Given the description of an element on the screen output the (x, y) to click on. 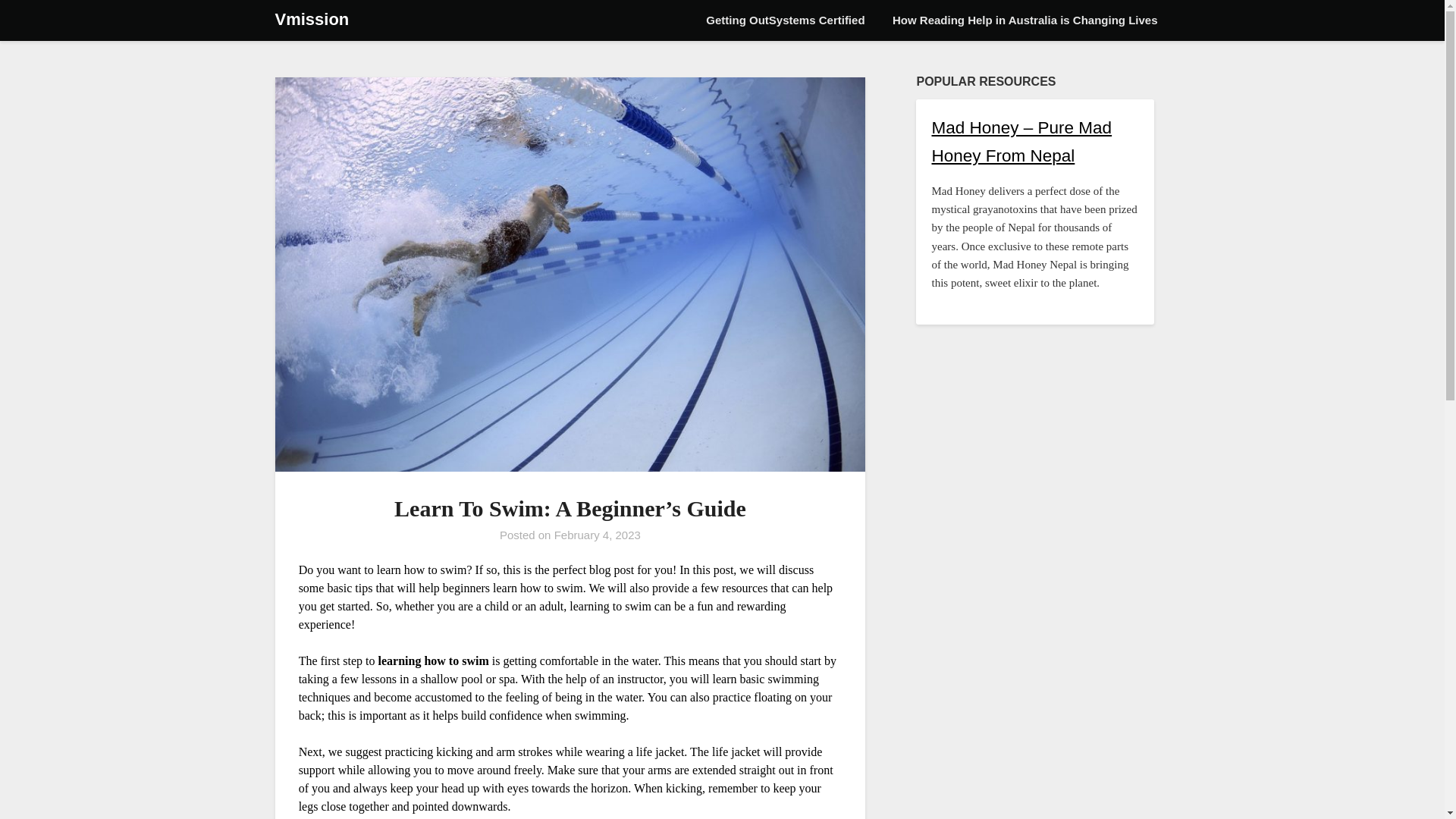
How Reading Help in Australia is Changing Lives (1025, 20)
February 4, 2023 (597, 534)
Getting OutSystems Certified (785, 20)
Vmission (312, 19)
